Given the description of an element on the screen output the (x, y) to click on. 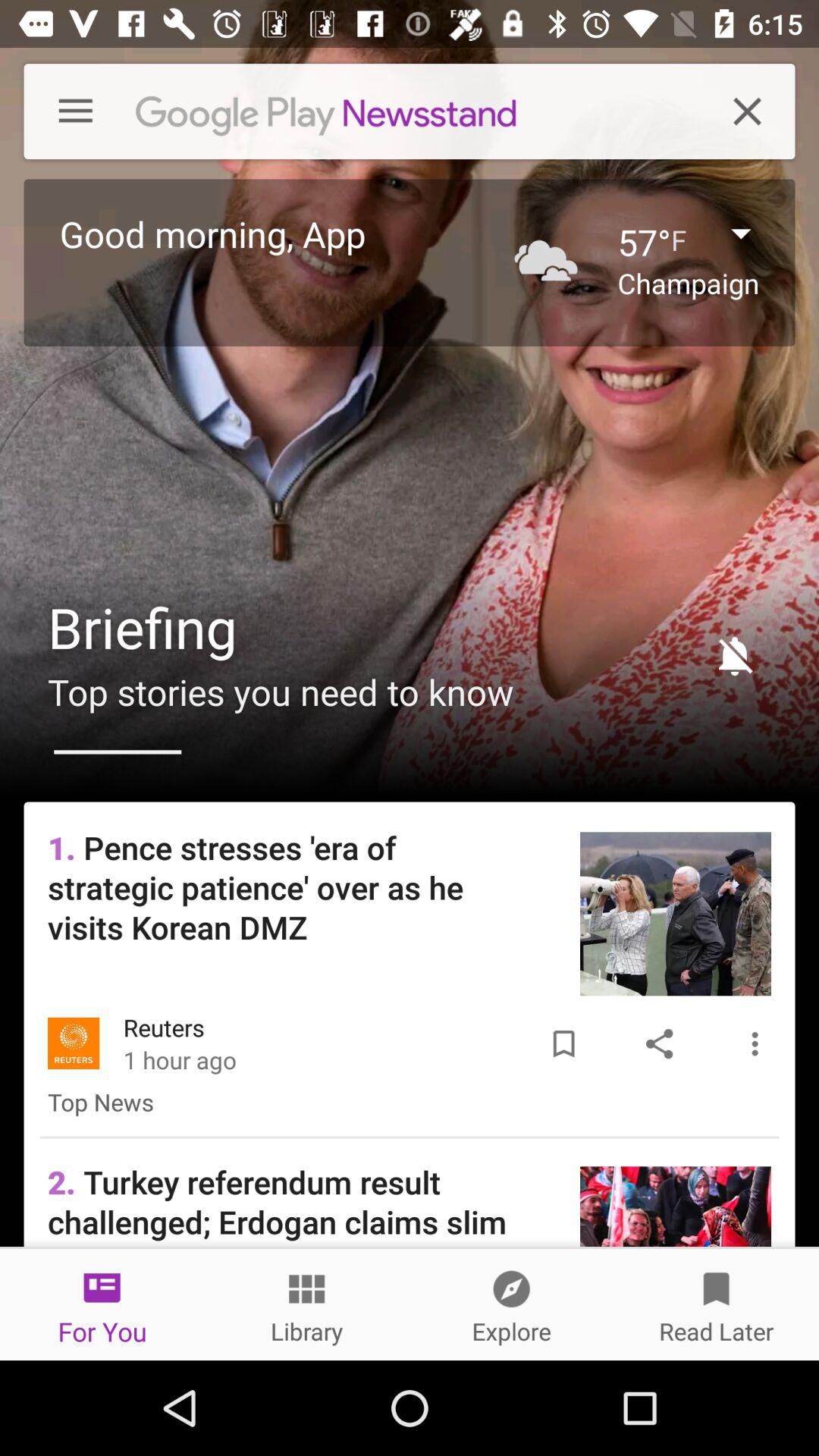
tap item next to briefing item (729, 655)
